Given the description of an element on the screen output the (x, y) to click on. 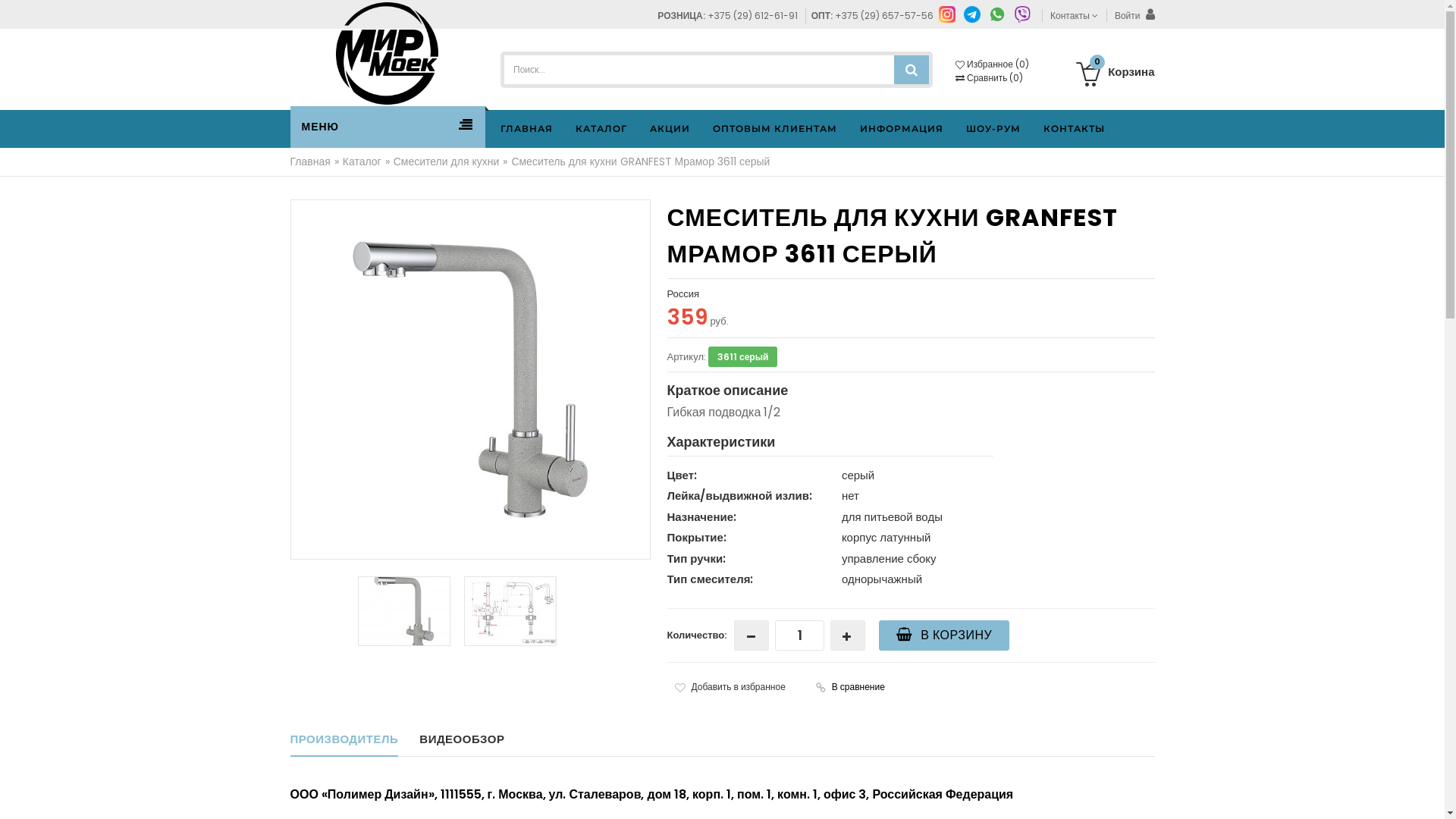
Qty Element type: hover (799, 635)
  Element type: text (751, 635)
  Element type: text (847, 635)
